Given the description of an element on the screen output the (x, y) to click on. 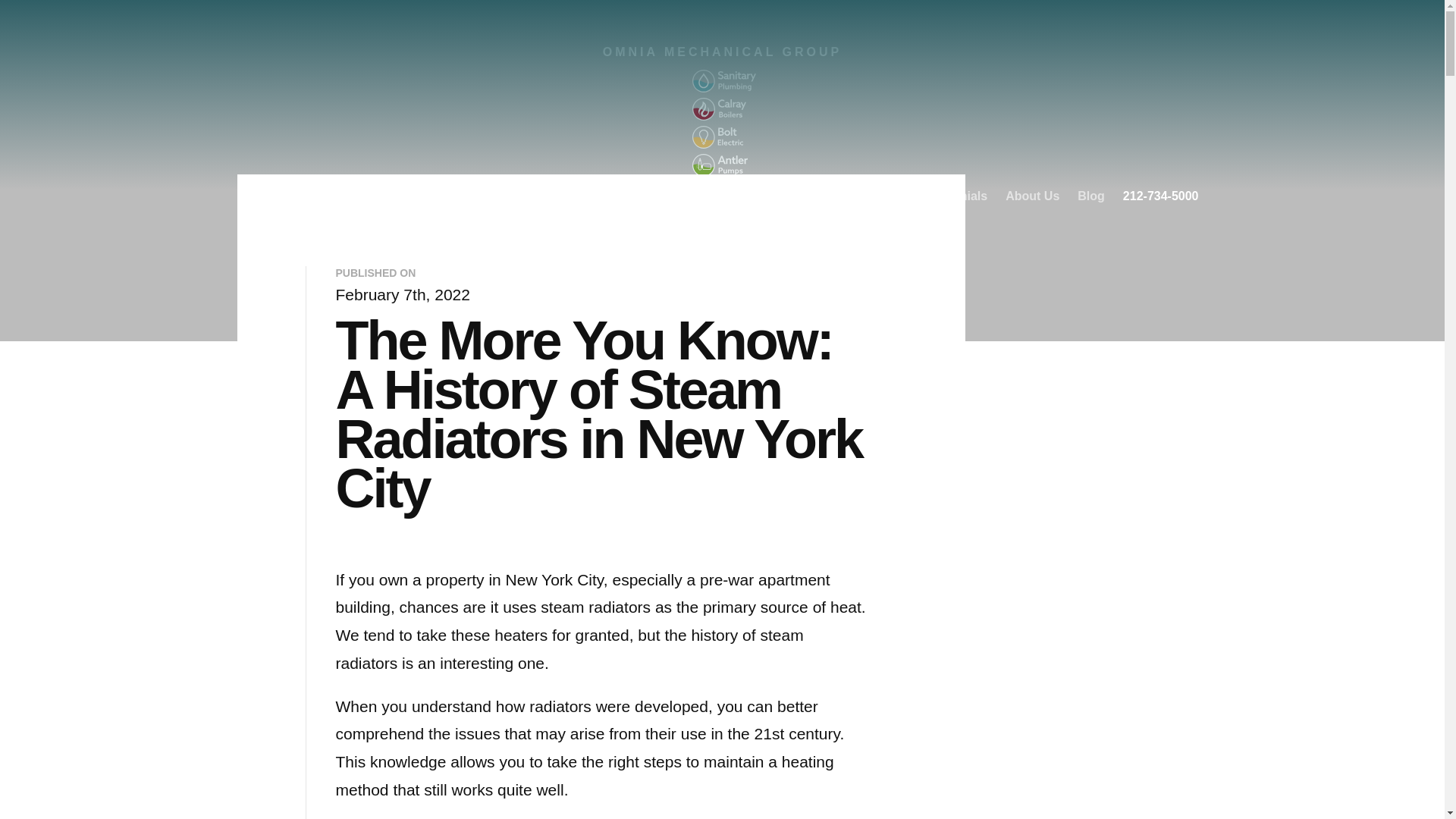
Who (631, 197)
Our Purpose (699, 197)
Services (779, 197)
Service Area (858, 197)
Service Area (858, 197)
Testimonials (951, 197)
212-734-5000 (1160, 197)
Services (779, 197)
Blog (1090, 197)
Our Purpose (699, 197)
